Given the description of an element on the screen output the (x, y) to click on. 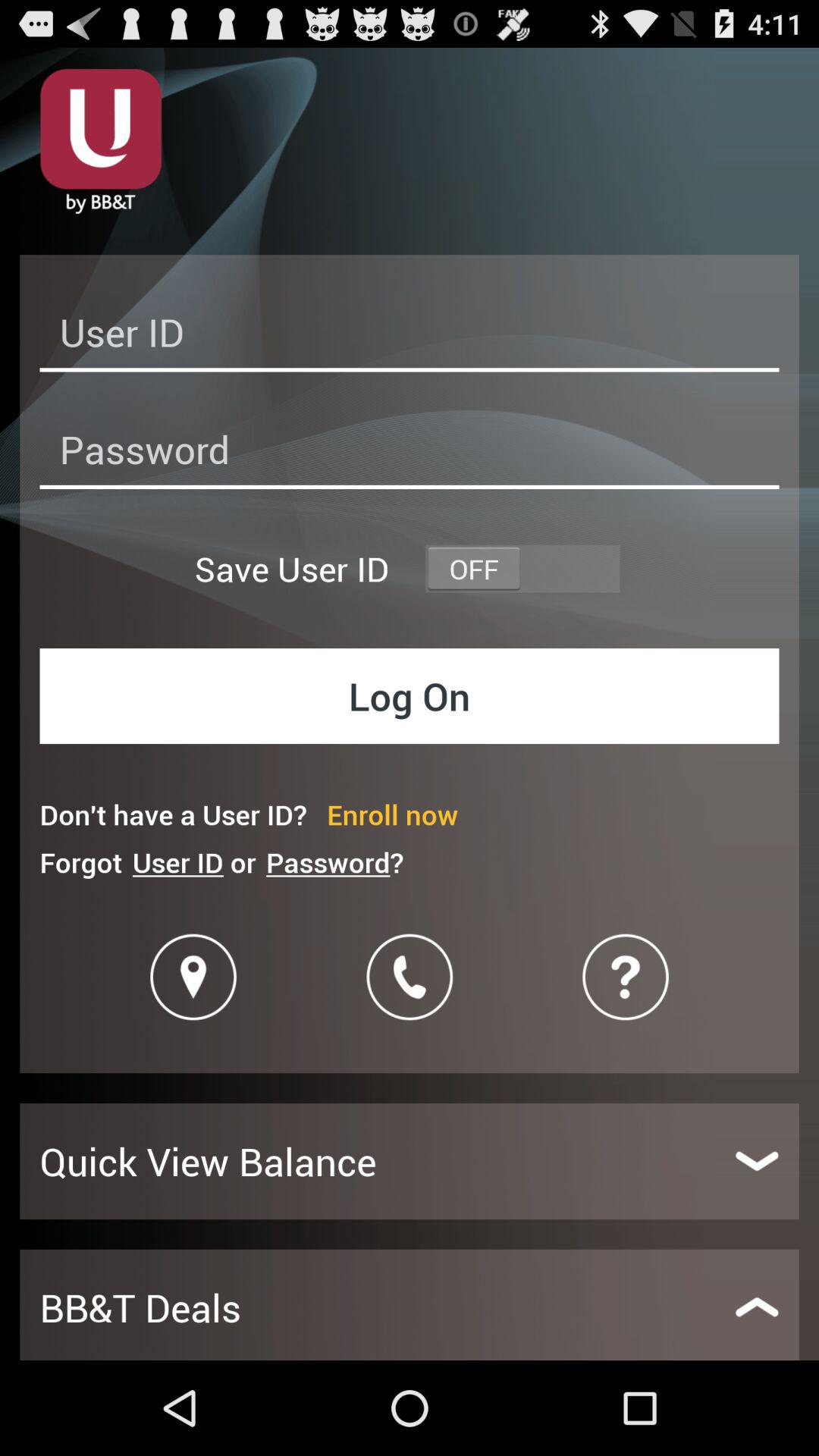
choose the password? icon (334, 861)
